Given the description of an element on the screen output the (x, y) to click on. 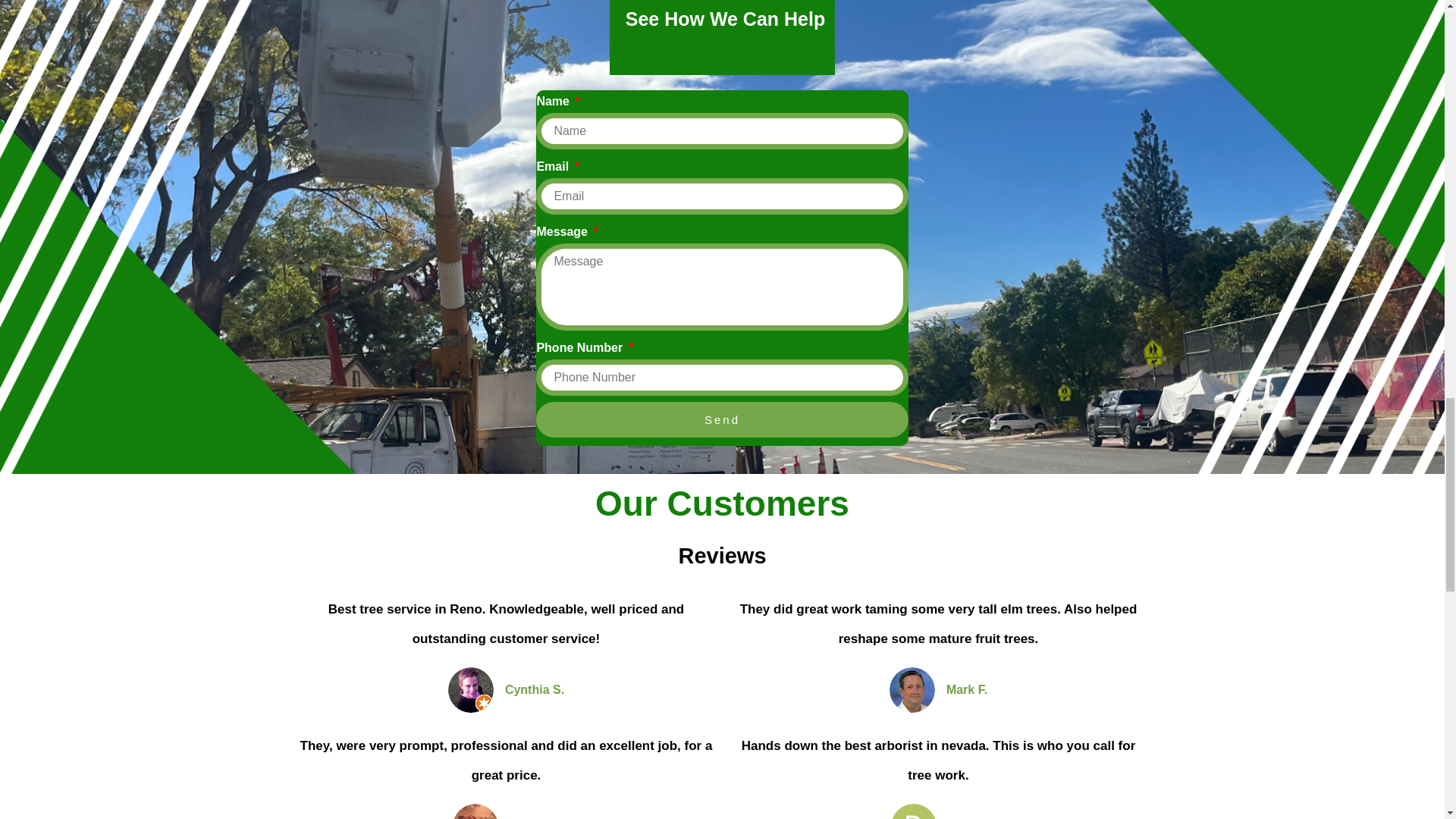
LEARN MORE (189, 7)
Send (721, 419)
